Given the description of an element on the screen output the (x, y) to click on. 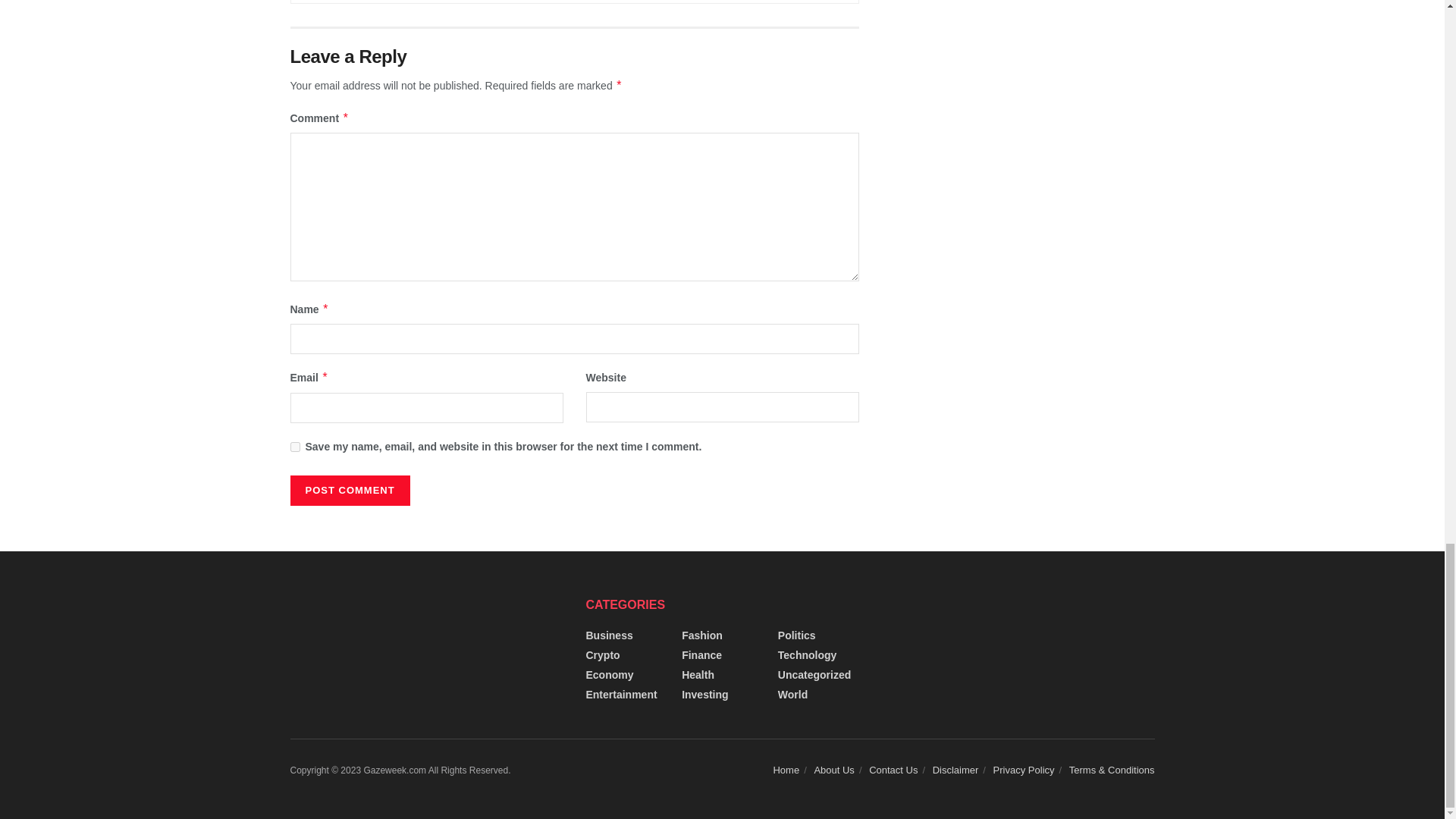
Post Comment (349, 490)
yes (294, 447)
